Given the description of an element on the screen output the (x, y) to click on. 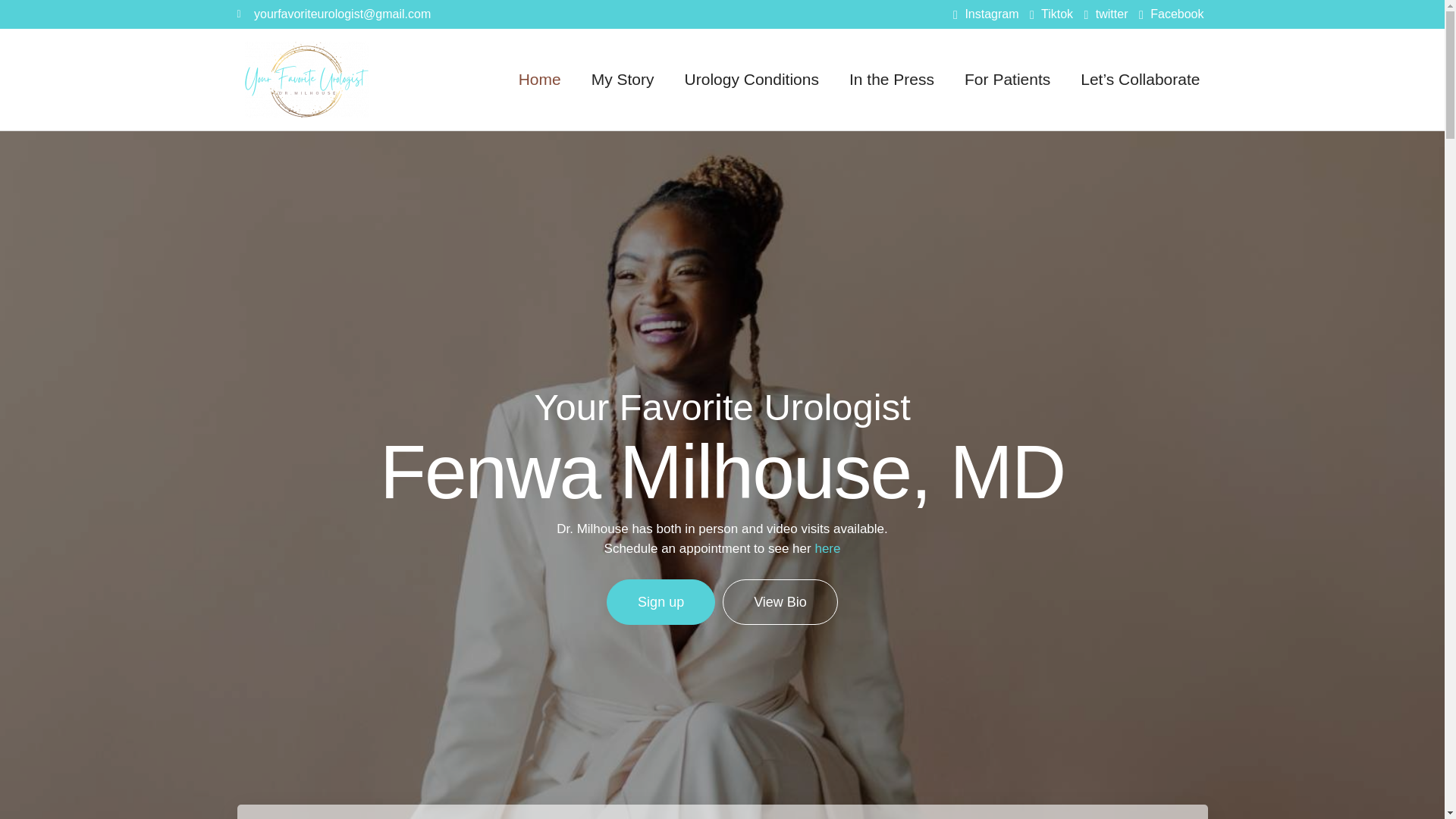
twitter (1106, 14)
Sign up (660, 601)
Urology Conditions (751, 79)
here (826, 548)
In the Press (891, 79)
View Bio (780, 601)
For Patients (1006, 79)
Tiktok (1051, 14)
Instagram (985, 14)
Home (539, 79)
